Given the description of an element on the screen output the (x, y) to click on. 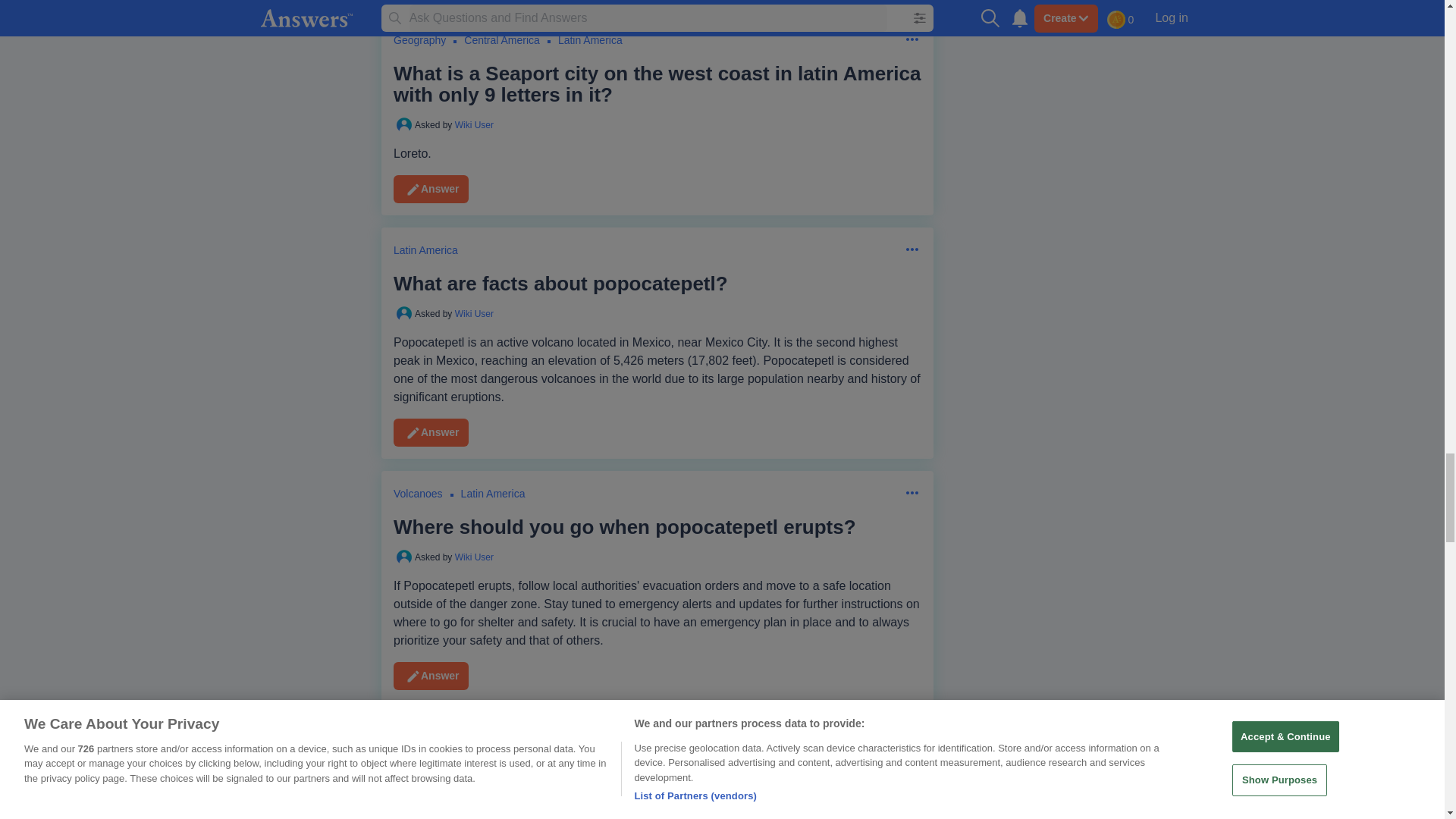
Latin America (516, 46)
